Given the description of an element on the screen output the (x, y) to click on. 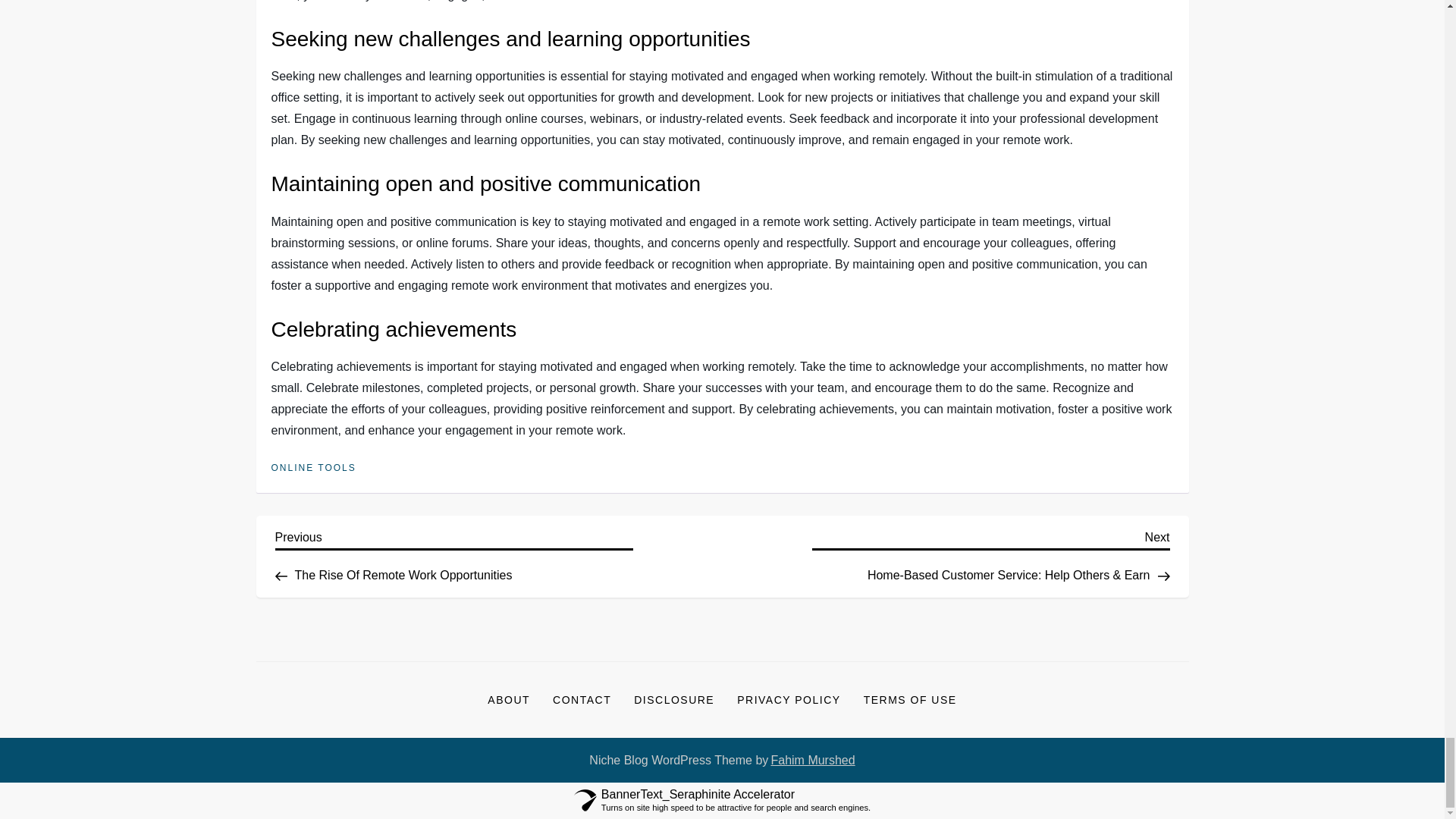
CONTACT (453, 554)
Fahim Murshed (582, 699)
TERMS OF USE (812, 760)
ONLINE TOOLS (909, 699)
PRIVACY POLICY (313, 468)
DISCLOSURE (788, 699)
ABOUT (674, 699)
